Given the description of an element on the screen output the (x, y) to click on. 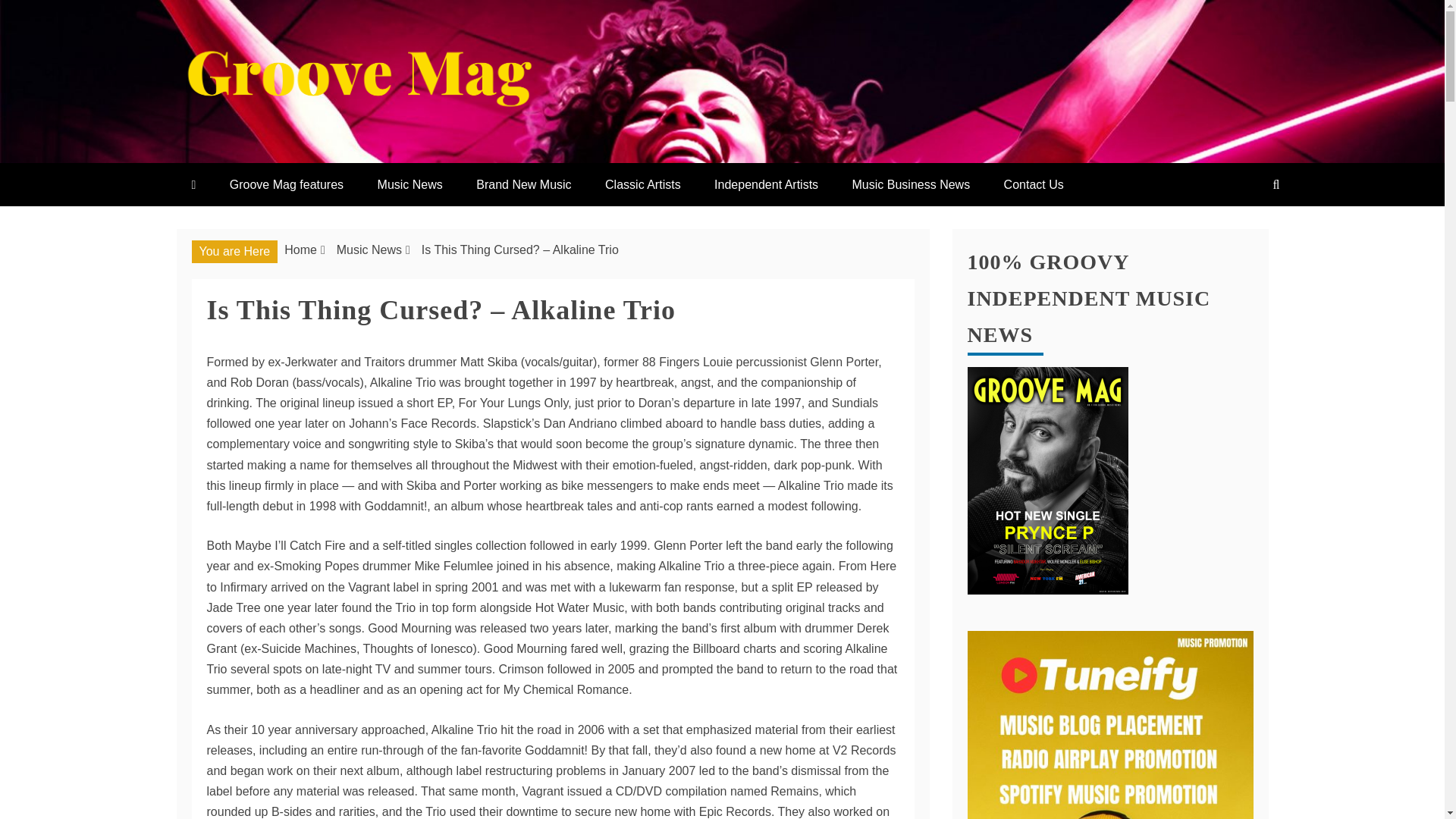
Music Business News (911, 184)
Music News (410, 184)
Contact Us (1033, 184)
Home (300, 249)
Brand New Music (523, 184)
Classic Artists (642, 184)
GROOVE MAG (315, 147)
Groove Mag features (286, 184)
Independent Artists (765, 184)
Music News (368, 249)
